Given the description of an element on the screen output the (x, y) to click on. 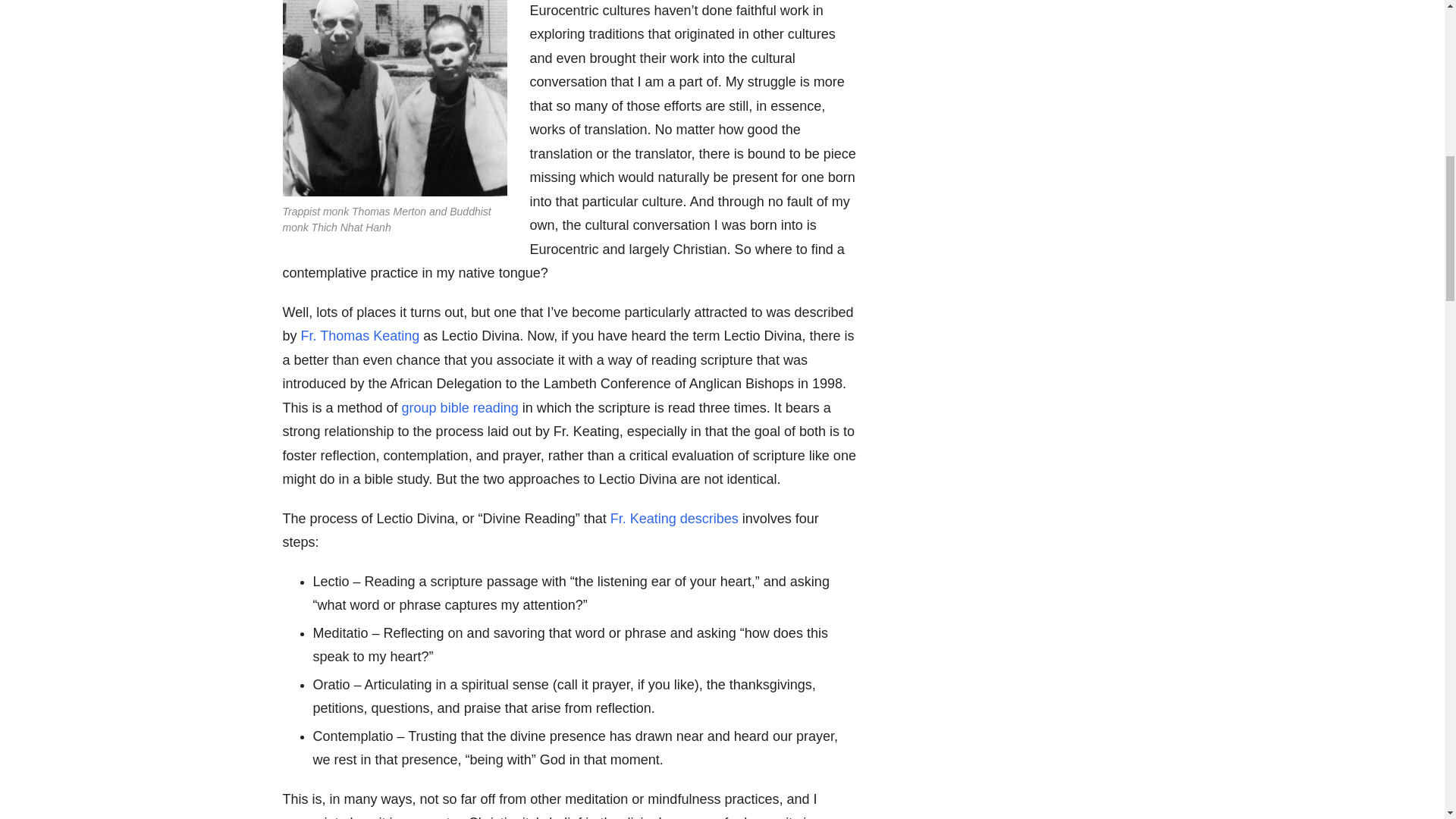
Fr. Keating describes (674, 518)
group bible reading (459, 407)
Fr. Thomas Keating (360, 335)
